Given the description of an element on the screen output the (x, y) to click on. 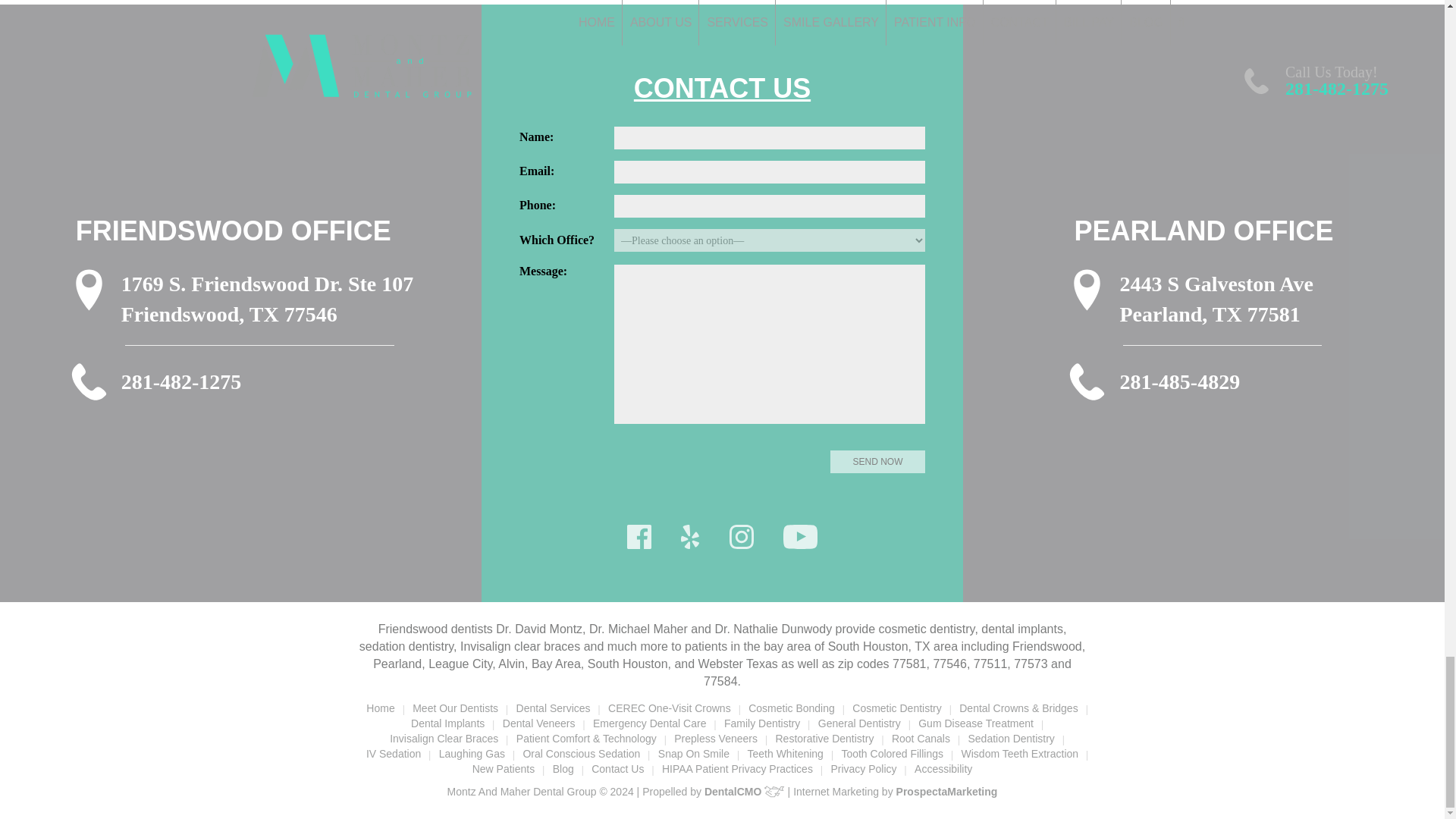
Instagram-black (741, 536)
Internet Dental Marketing (946, 791)
Send Now (876, 461)
